Given the description of an element on the screen output the (x, y) to click on. 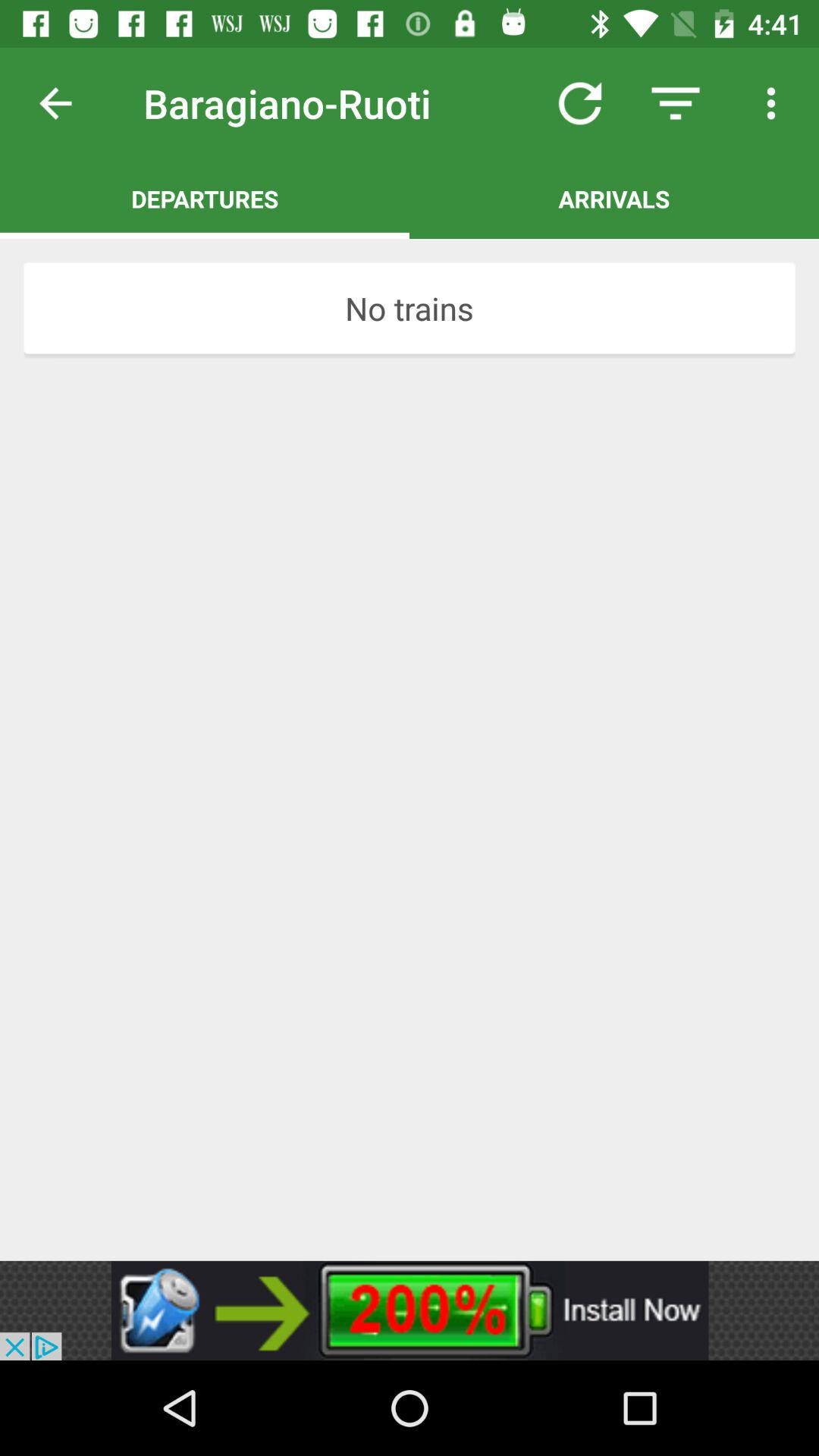
click the advertisement (409, 1310)
